Given the description of an element on the screen output the (x, y) to click on. 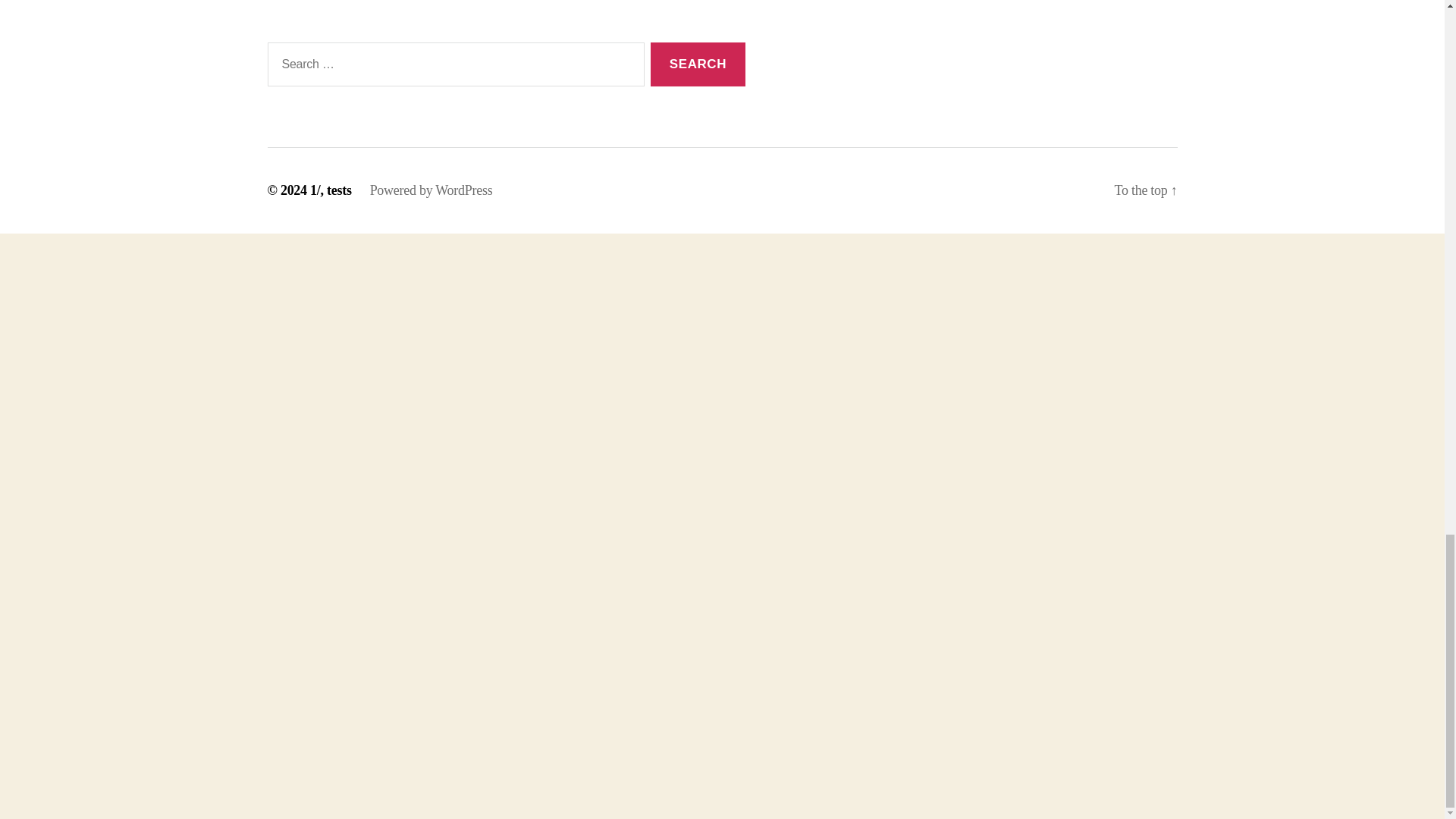
Search (697, 64)
Search (697, 64)
